Given the description of an element on the screen output the (x, y) to click on. 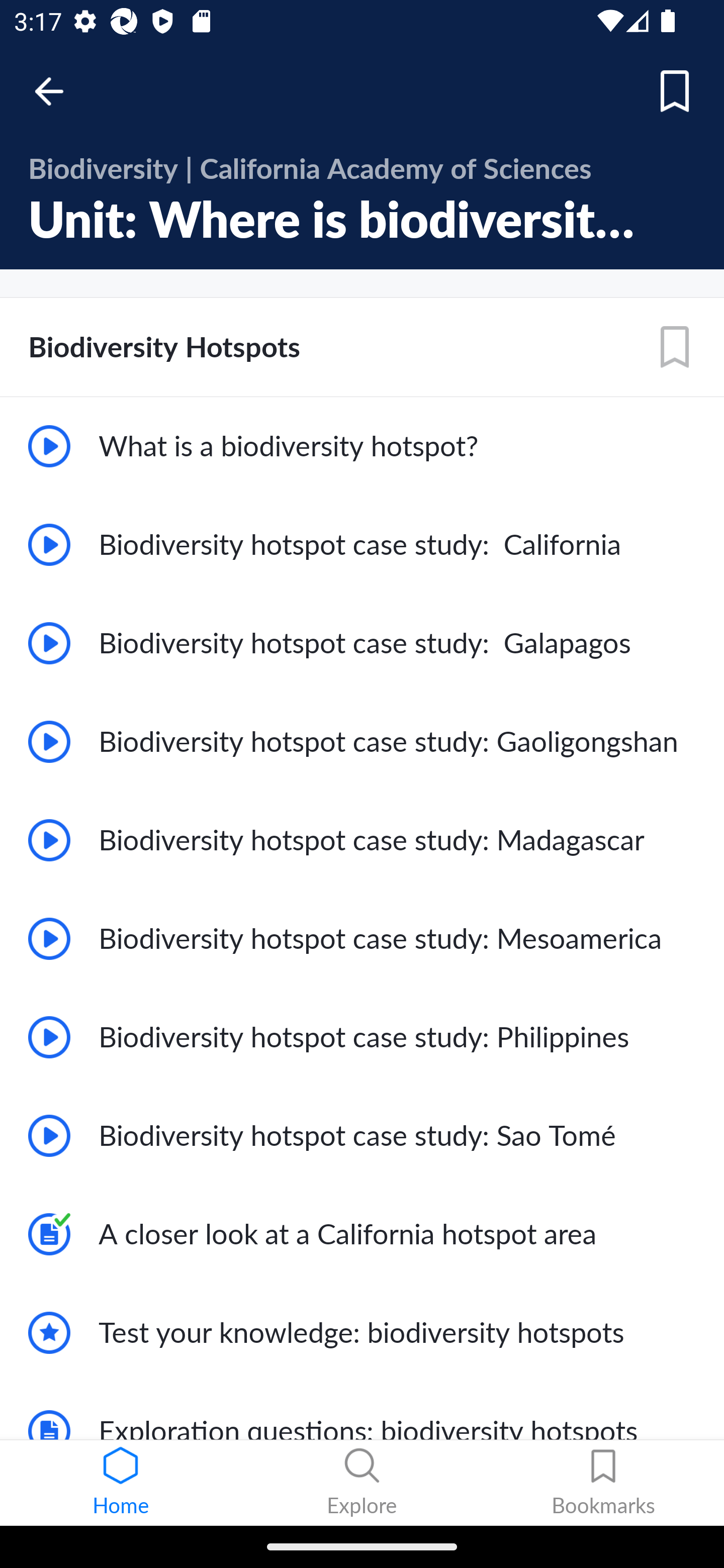
Back (58, 91)
Add Bookmark (674, 91)
Add Bookmark (674, 347)
What is a biodiversity hotspot? (362, 445)
Biodiversity hotspot case study:  California (362, 544)
Biodiversity hotspot case study:  Galapagos (362, 643)
Biodiversity hotspot case study: Gaoligongshan (362, 741)
Biodiversity hotspot case study: Madagascar (362, 839)
Biodiversity hotspot case study: Mesoamerica (362, 938)
Biodiversity hotspot case study: Philippines (362, 1036)
Biodiversity hotspot case study: Sao Tomé (362, 1135)
A closer look at a California hotspot area (362, 1234)
Test your knowledge: biodiversity hotspots (362, 1332)
Home (120, 1482)
Explore (361, 1482)
Bookmarks (603, 1482)
